Given the description of an element on the screen output the (x, y) to click on. 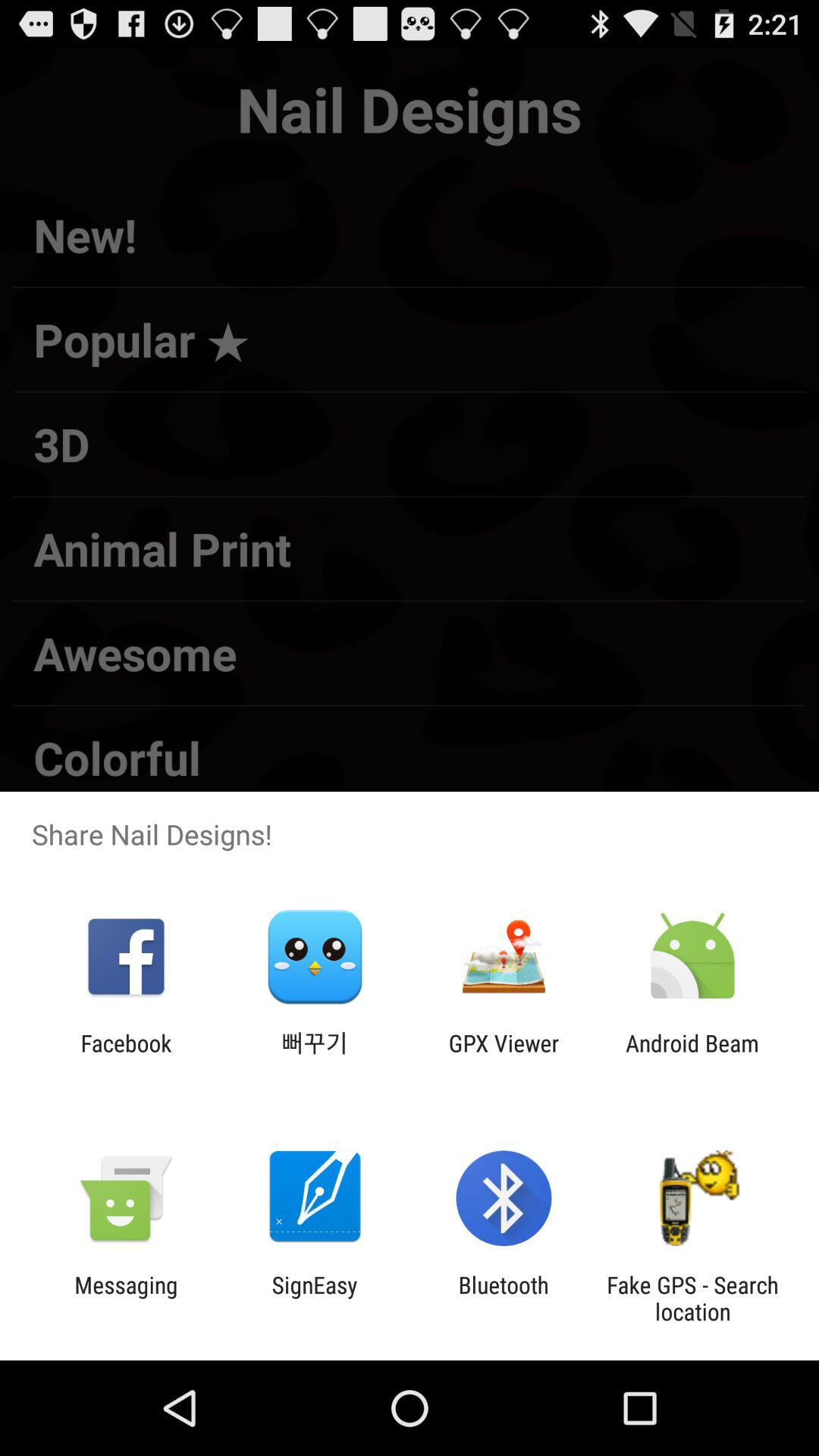
turn on the icon to the right of the bluetooth item (692, 1298)
